Given the description of an element on the screen output the (x, y) to click on. 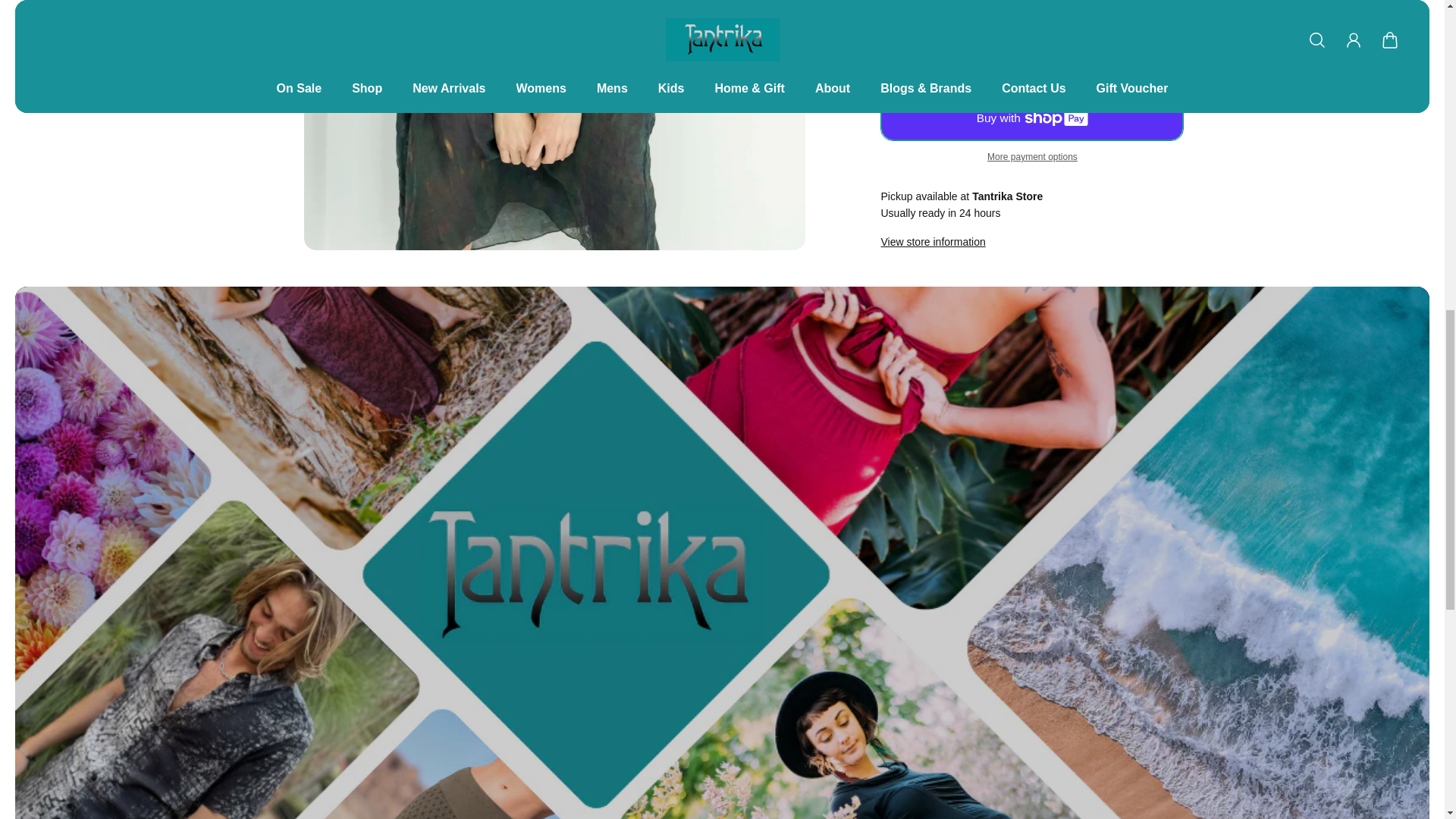
1 (1145, 7)
Add to cart (1031, 61)
More payment options (1031, 156)
View store information (932, 241)
